Given the description of an element on the screen output the (x, y) to click on. 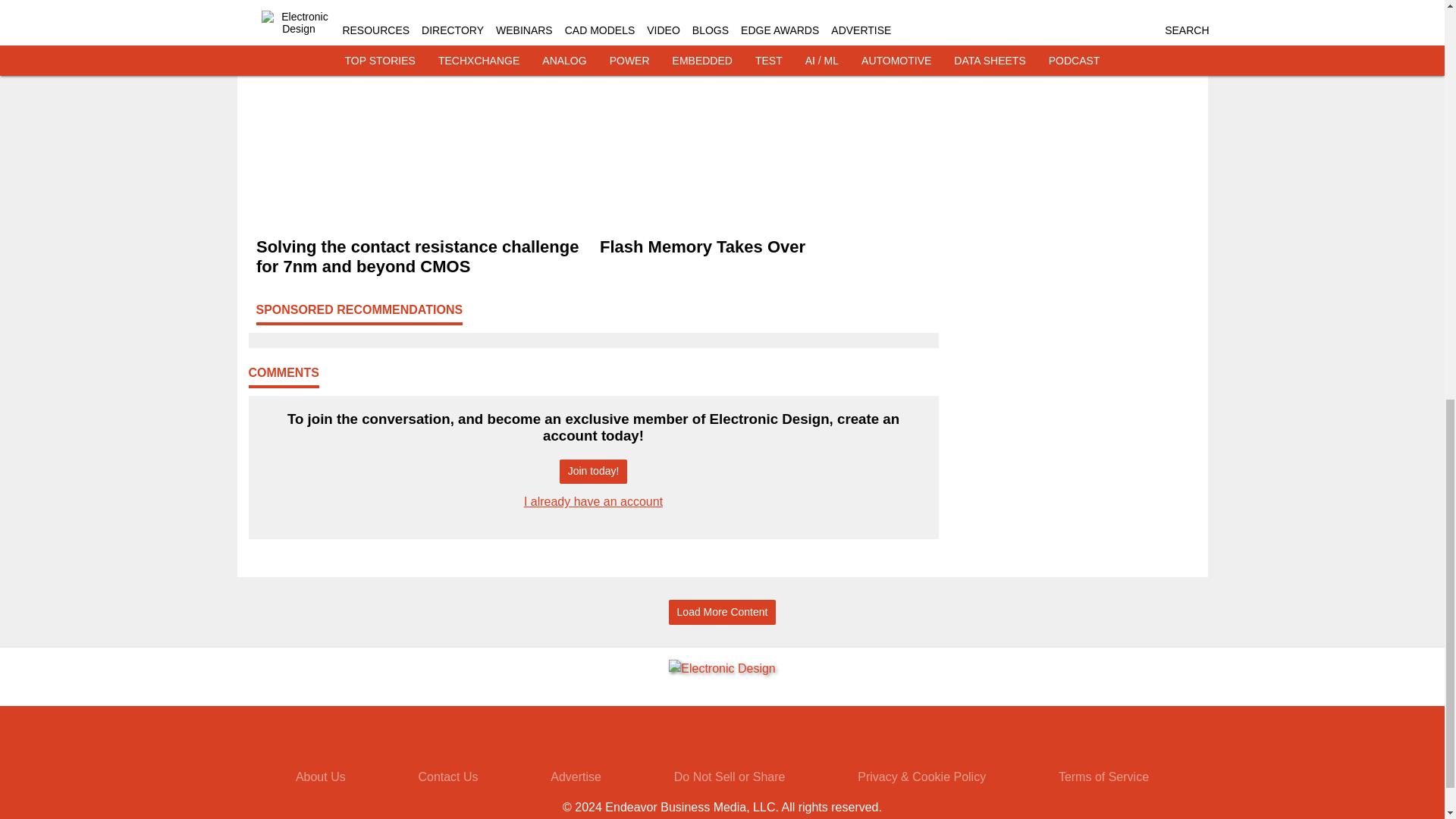
Join today! (593, 471)
I already have an account (593, 501)
Flash Memory Takes Over (764, 247)
